Given the description of an element on the screen output the (x, y) to click on. 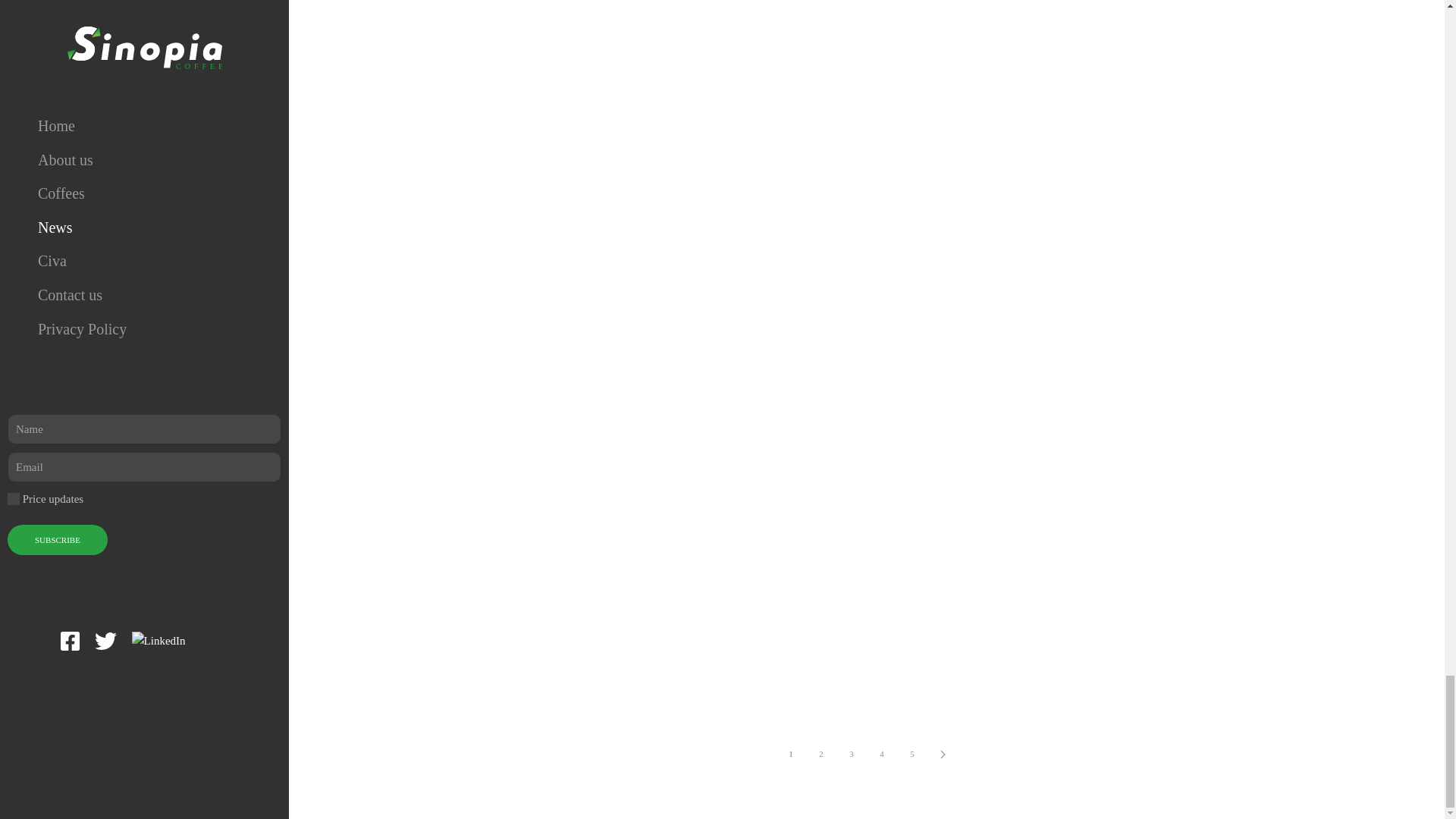
Next (942, 753)
